Given the description of an element on the screen output the (x, y) to click on. 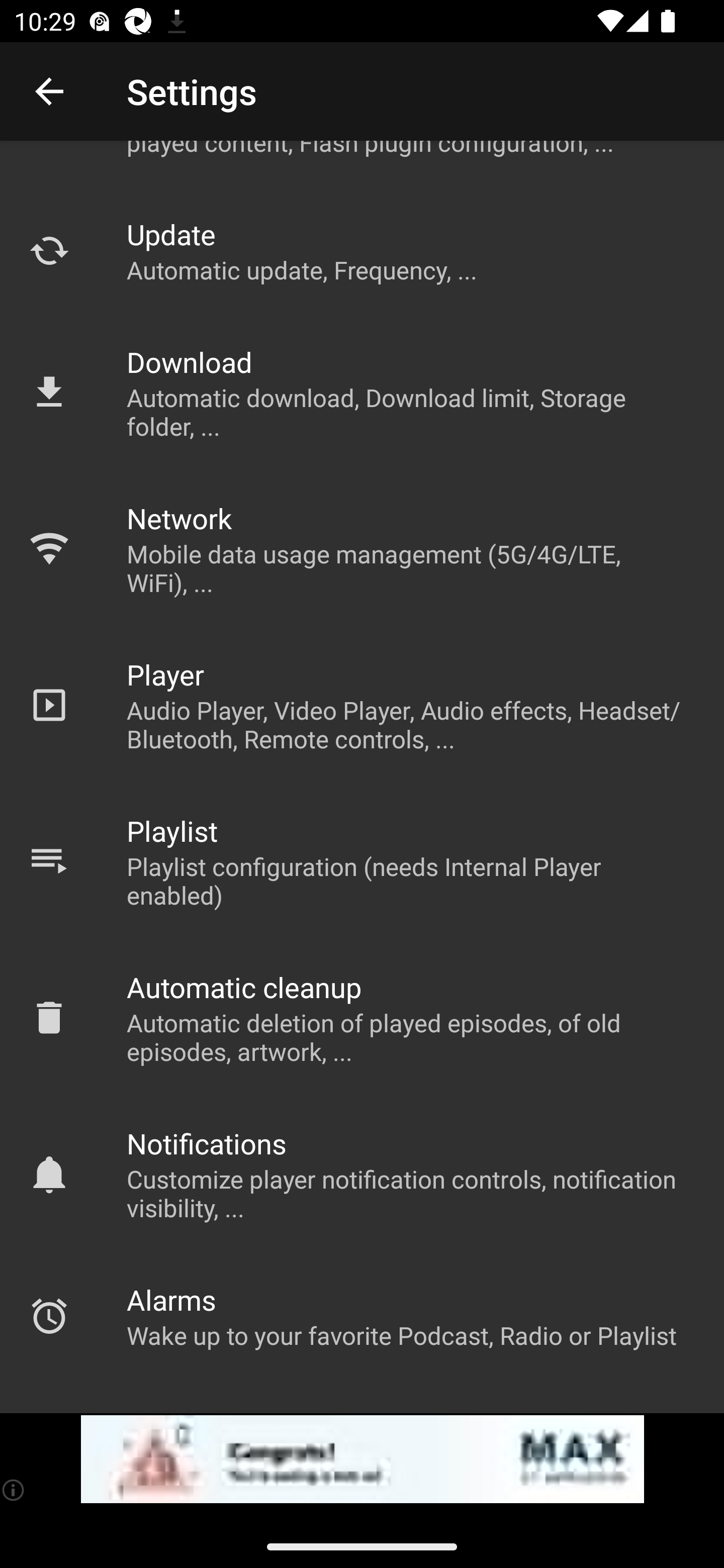
Navigate up (49, 91)
Update Automatic update, Frequency, ... (362, 250)
app-monetization (362, 1459)
(i) (14, 1489)
